Given the description of an element on the screen output the (x, y) to click on. 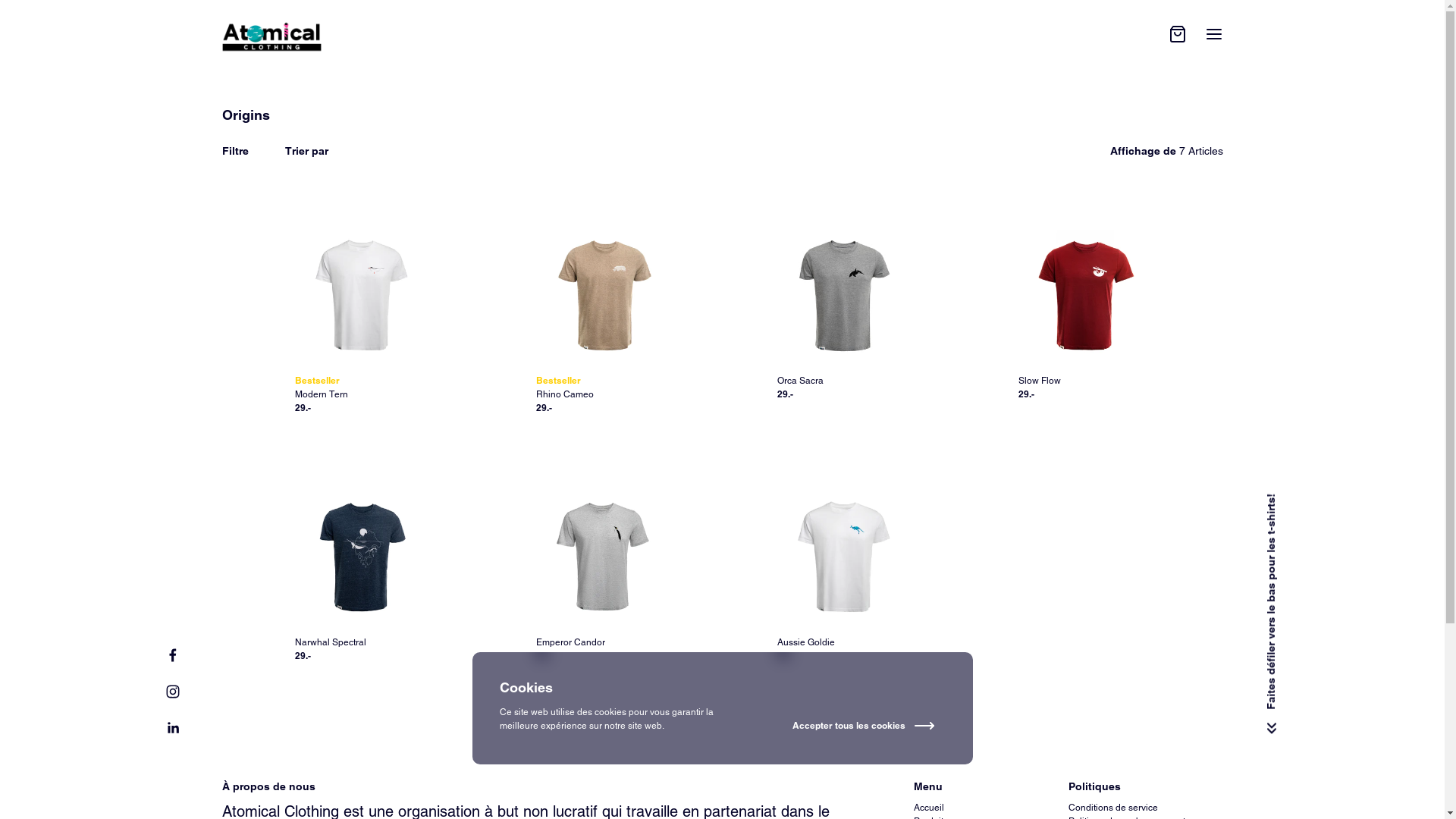
Slow Flow
29.- Element type: text (1083, 315)
Emperor Candor
29.- Element type: text (601, 577)
Trier par Element type: text (306, 150)
Filtre Element type: text (234, 150)
Conditions de service Element type: text (1112, 808)
Narwhal Spectral
29.- Element type: text (360, 577)
Aussie Goldie
29.- Element type: text (842, 577)
Orca Sacra
29.- Element type: text (842, 315)
Bestseller
Rhino Cameo
29.- Element type: text (601, 315)
Accueil Element type: text (928, 808)
Accepter tous les cookies Element type: text (873, 725)
Bestseller
Modern Tern
29.- Element type: text (360, 315)
